Given the description of an element on the screen output the (x, y) to click on. 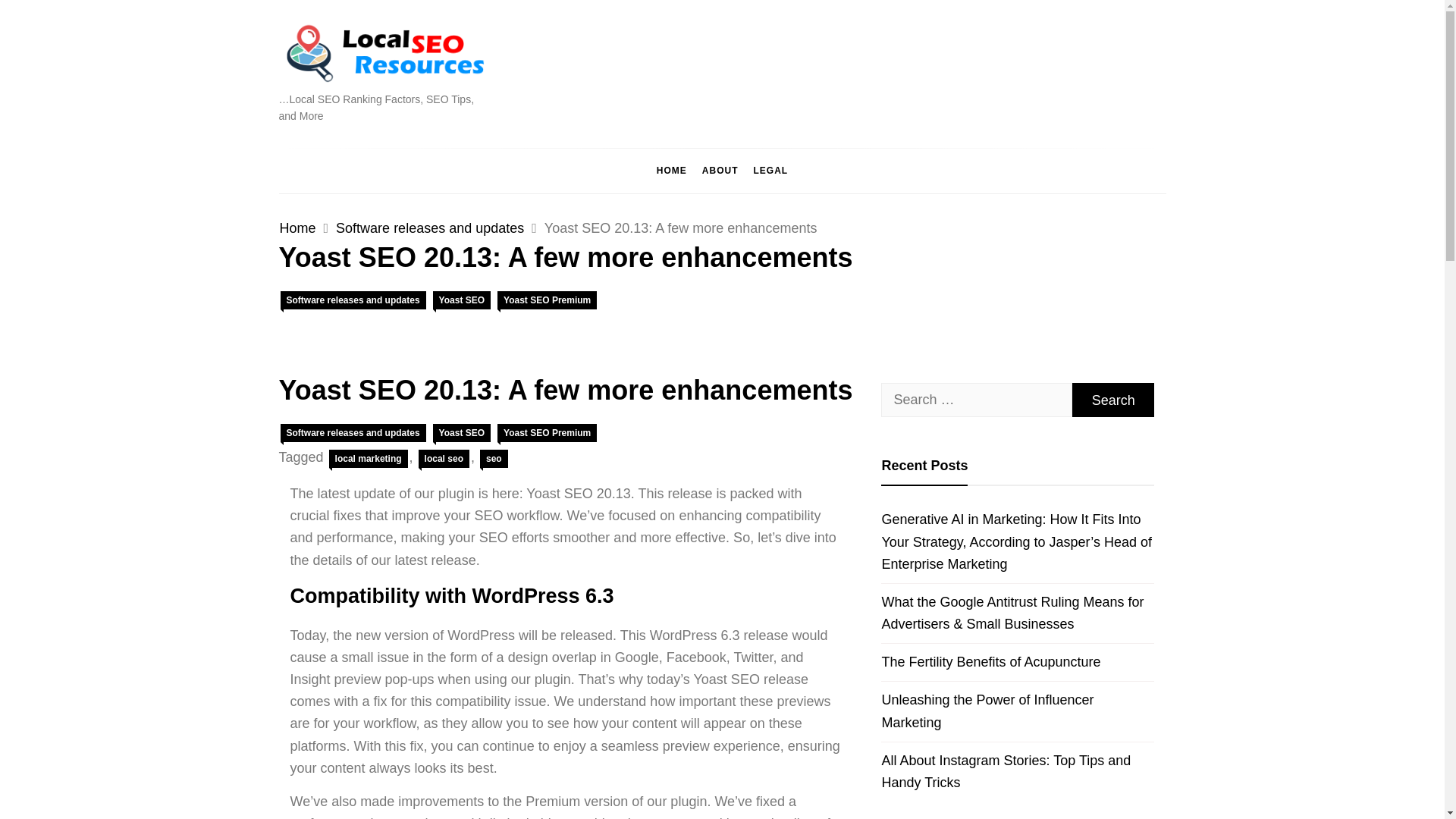
Local SEO Resources (413, 105)
Search (1112, 399)
ABOUT (719, 170)
Software releases and updates (353, 300)
local seo (443, 458)
Yoast SEO Premium (546, 433)
LEGAL (770, 170)
local marketing (368, 458)
HOME (671, 170)
Yoast SEO Premium (546, 300)
